Given the description of an element on the screen output the (x, y) to click on. 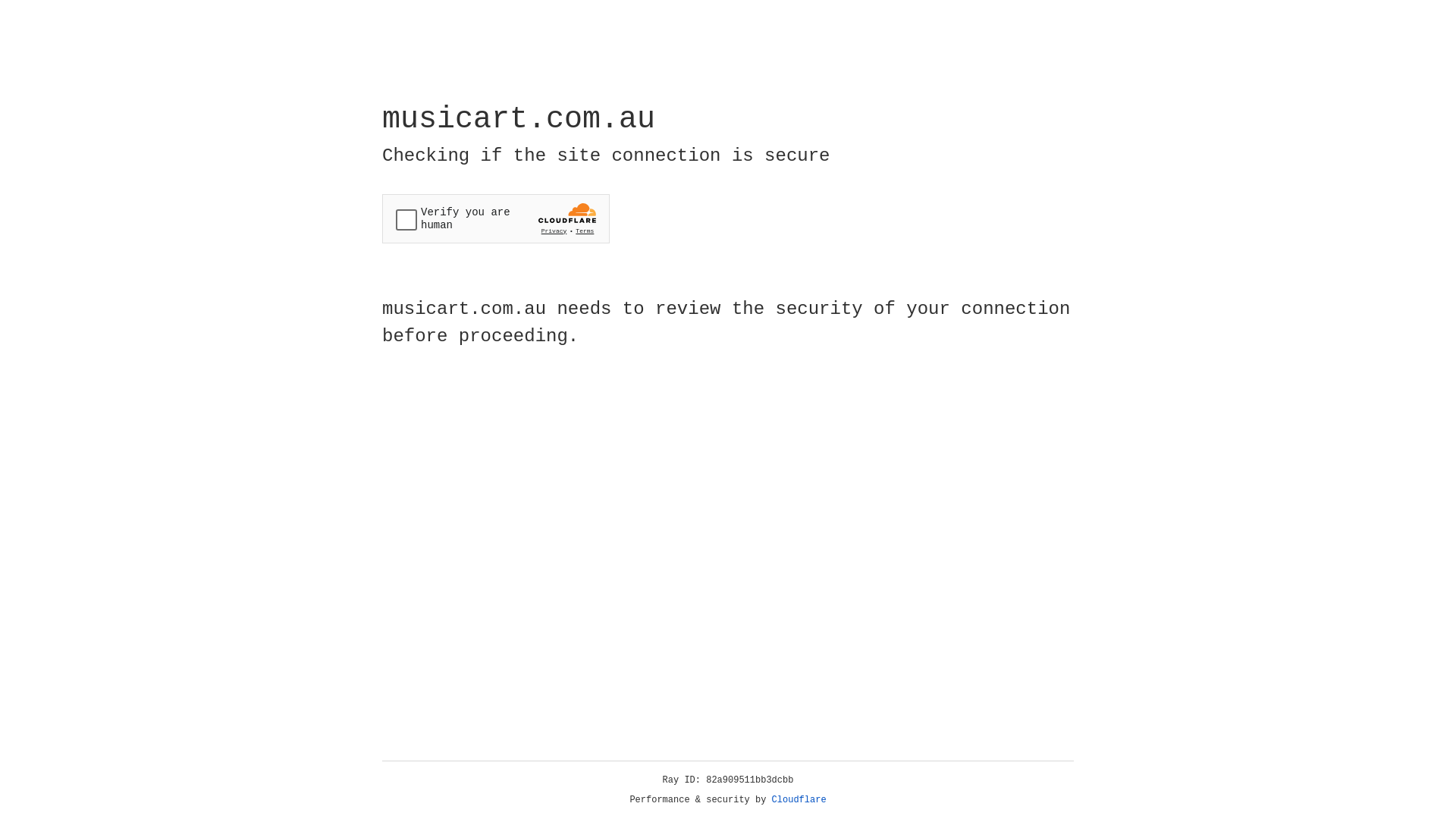
Cloudflare Element type: text (798, 799)
Widget containing a Cloudflare security challenge Element type: hover (495, 218)
